Given the description of an element on the screen output the (x, y) to click on. 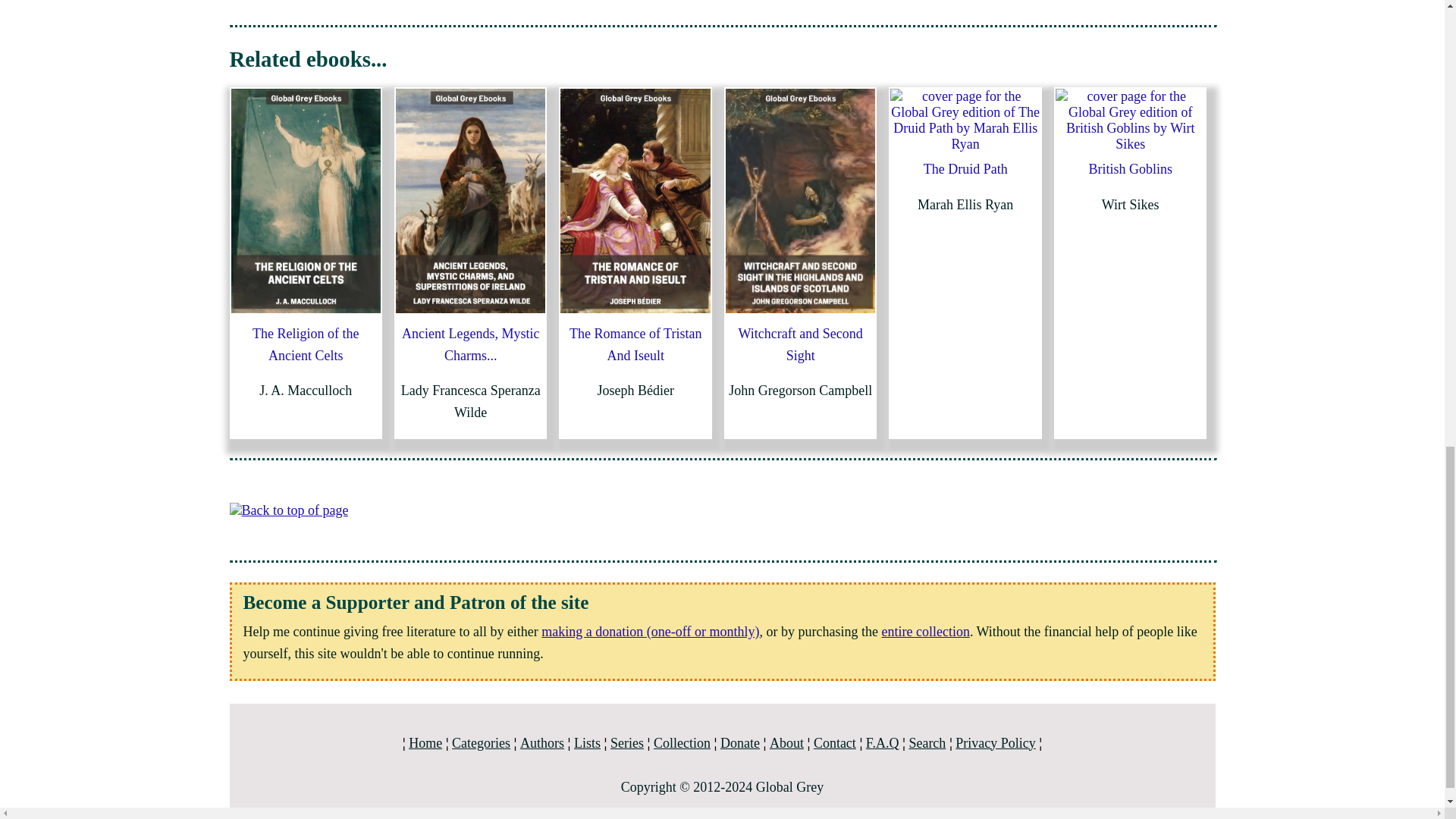
The Religion of the Ancient Celts (304, 344)
Ancient Legends, Mystic Charms... (469, 344)
The Romance of Tristan And Iseult (635, 344)
